Given the description of an element on the screen output the (x, y) to click on. 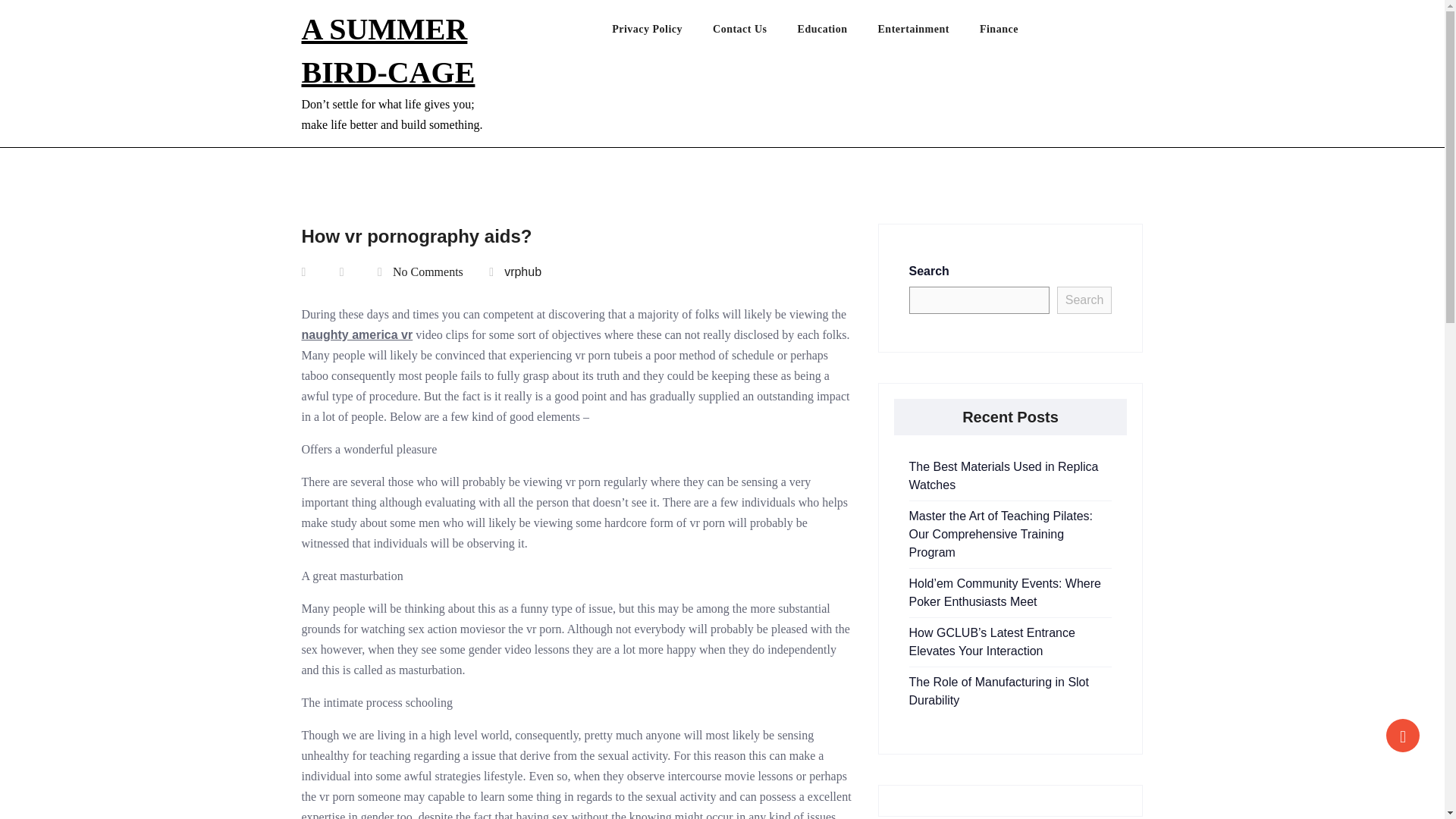
The Role of Manufacturing in Slot Durability (997, 690)
naughty america vr (357, 334)
vrphub (522, 271)
Entertainment (928, 32)
The Best Materials Used in Replica Watches (1002, 475)
Privacy Policy (662, 32)
Education (837, 32)
Contact Us (755, 32)
Finance (1013, 32)
